Given the description of an element on the screen output the (x, y) to click on. 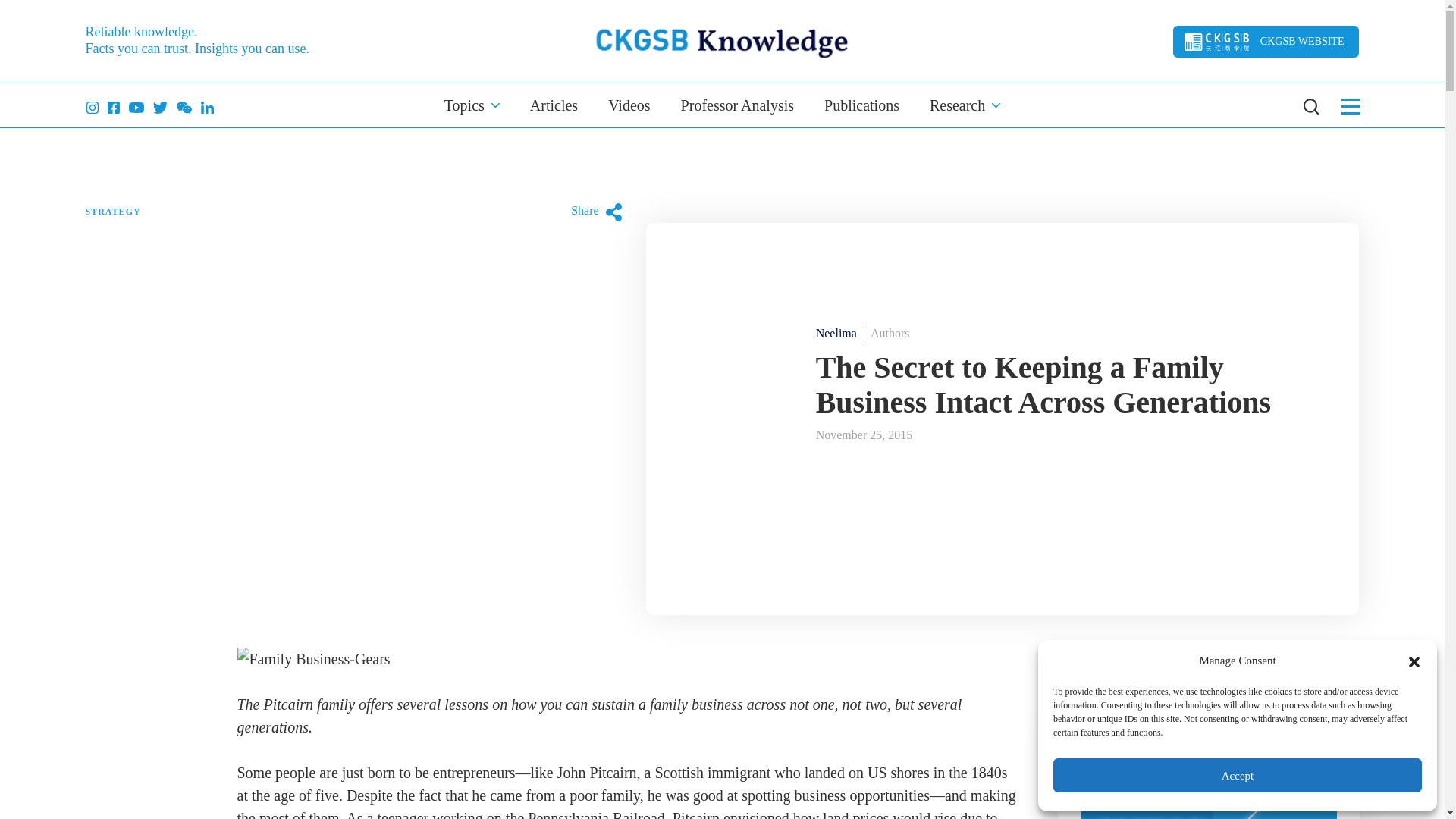
CKGSB WEBSITE (1265, 41)
Accept (1237, 775)
Topics (472, 105)
